Given the description of an element on the screen output the (x, y) to click on. 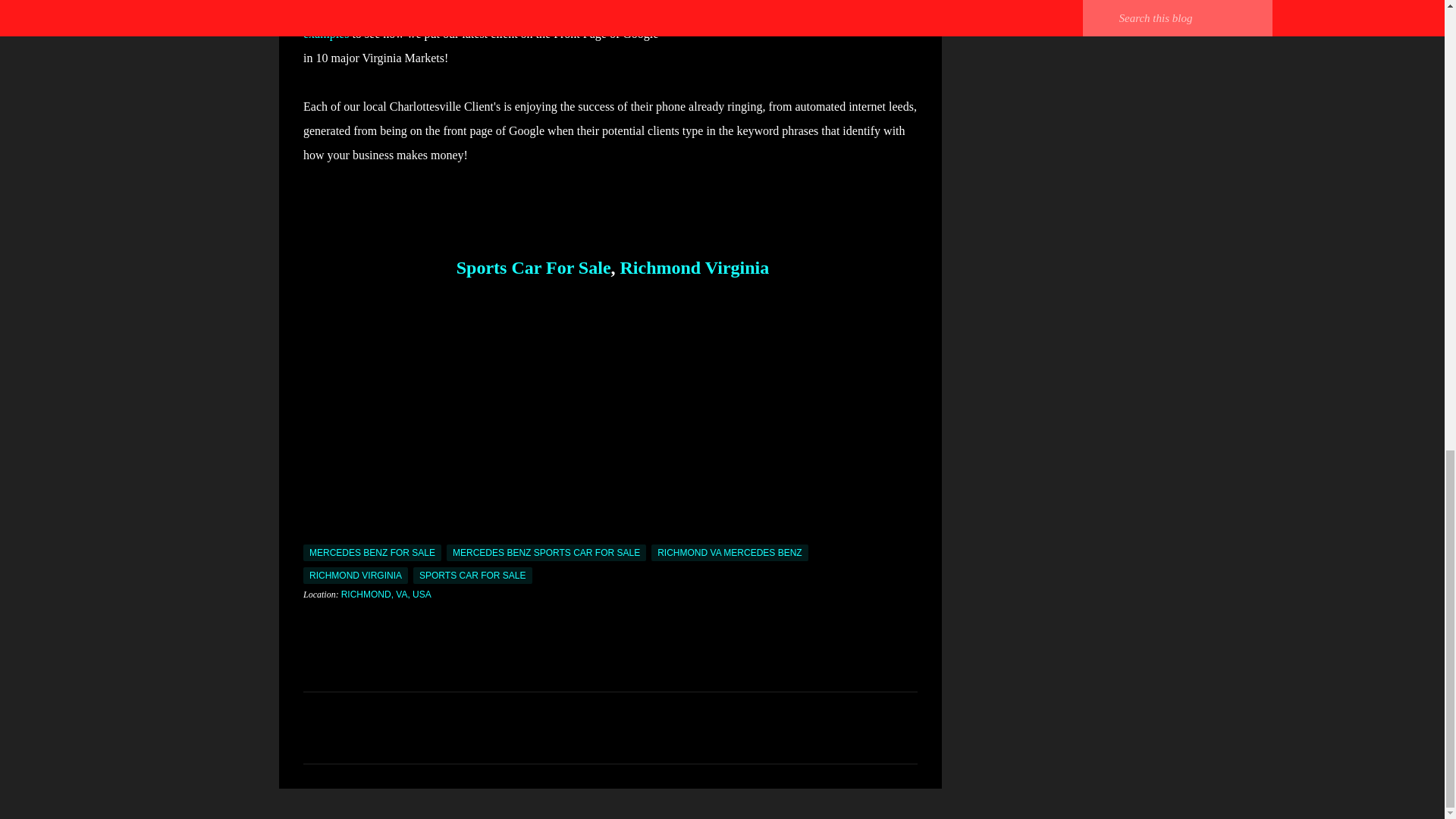
RICHMOND VA MERCEDES BENZ (729, 552)
MERCEDES BENZ SPORTS CAR FOR SALE (546, 552)
 Sports Car For Sale (531, 267)
MERCEDES BENZ FOR SALE (371, 552)
SPORTS CAR FOR SALE (472, 575)
Richmond Virginia (695, 267)
RICHMOND, VA, USA (385, 593)
RICHMOND VIRGINIA (354, 575)
